Given the description of an element on the screen output the (x, y) to click on. 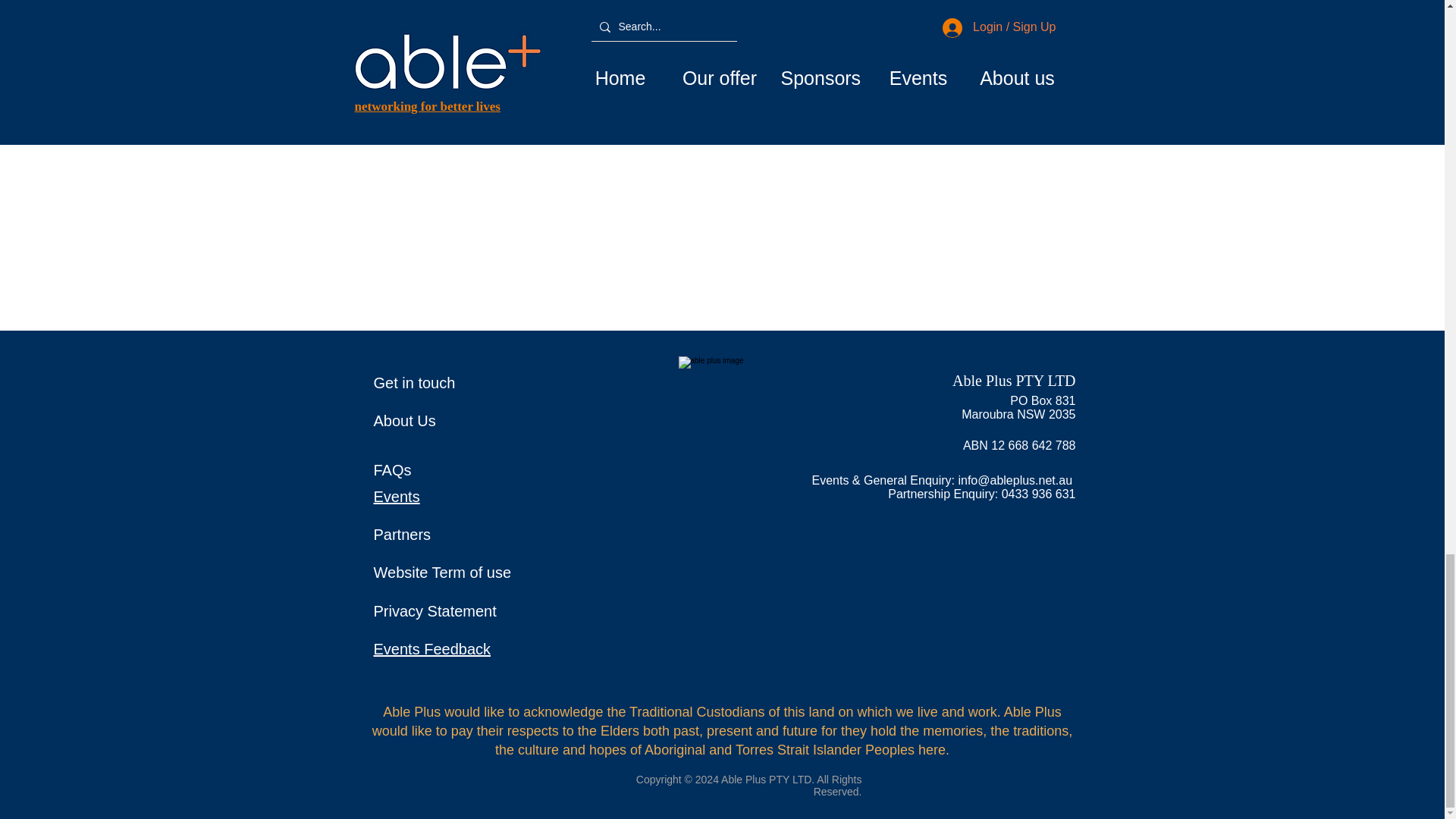
Events (395, 496)
FAQs (391, 469)
Partners (401, 534)
Privacy Statement (434, 610)
Events Feedback (431, 648)
Get in touch (413, 382)
About Us (403, 420)
Website Term of use (441, 572)
